Given the description of an element on the screen output the (x, y) to click on. 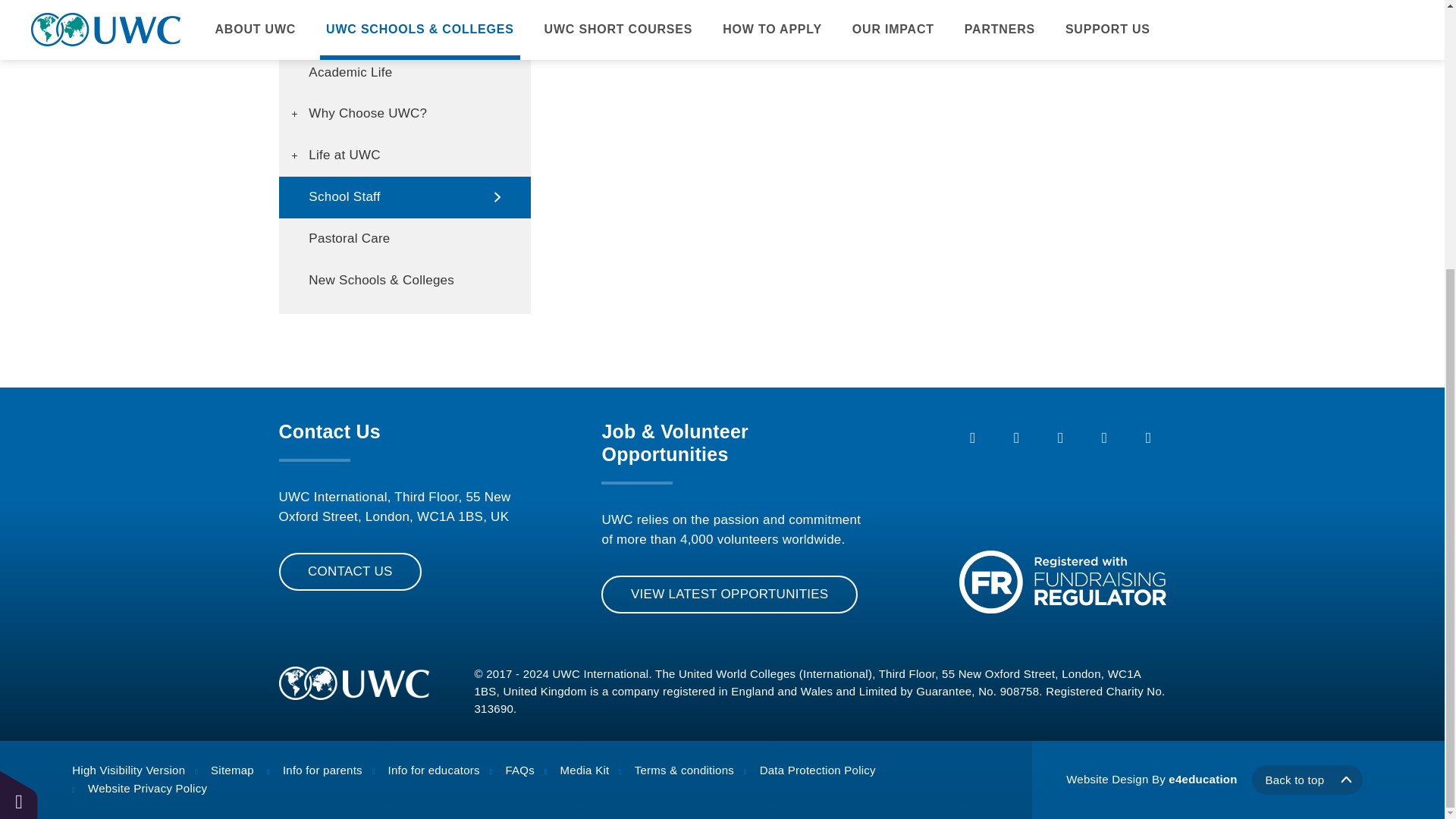
Facebook (972, 437)
YouTube (1104, 437)
Twitter (1015, 437)
LinkedIn (1148, 437)
Instagram (1060, 437)
